Given the description of an element on the screen output the (x, y) to click on. 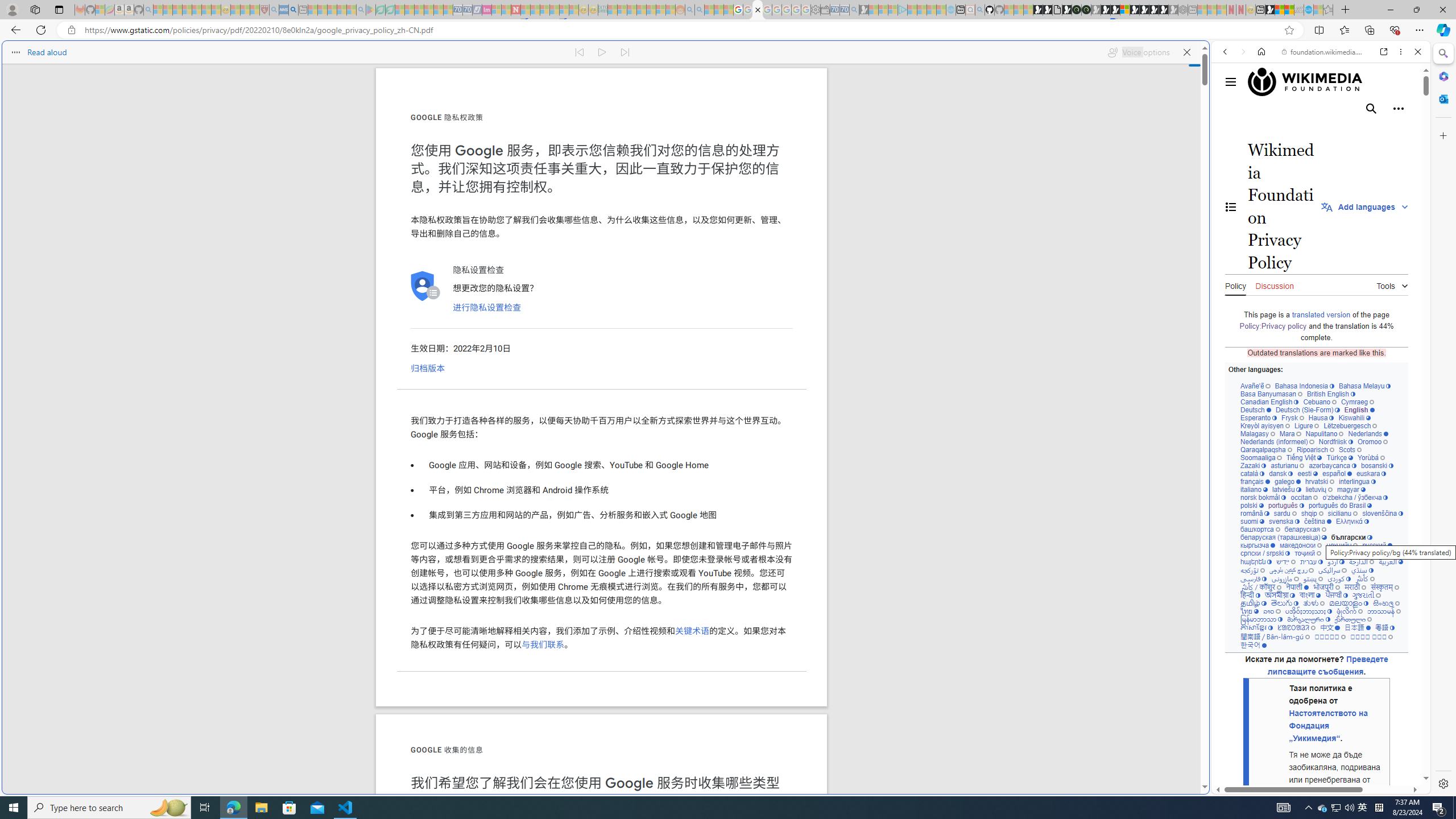
sicilianu (1342, 513)
euskara (1370, 473)
occitan (1303, 497)
suomi (1252, 520)
Mara (1290, 433)
English (1358, 409)
